Given the description of an element on the screen output the (x, y) to click on. 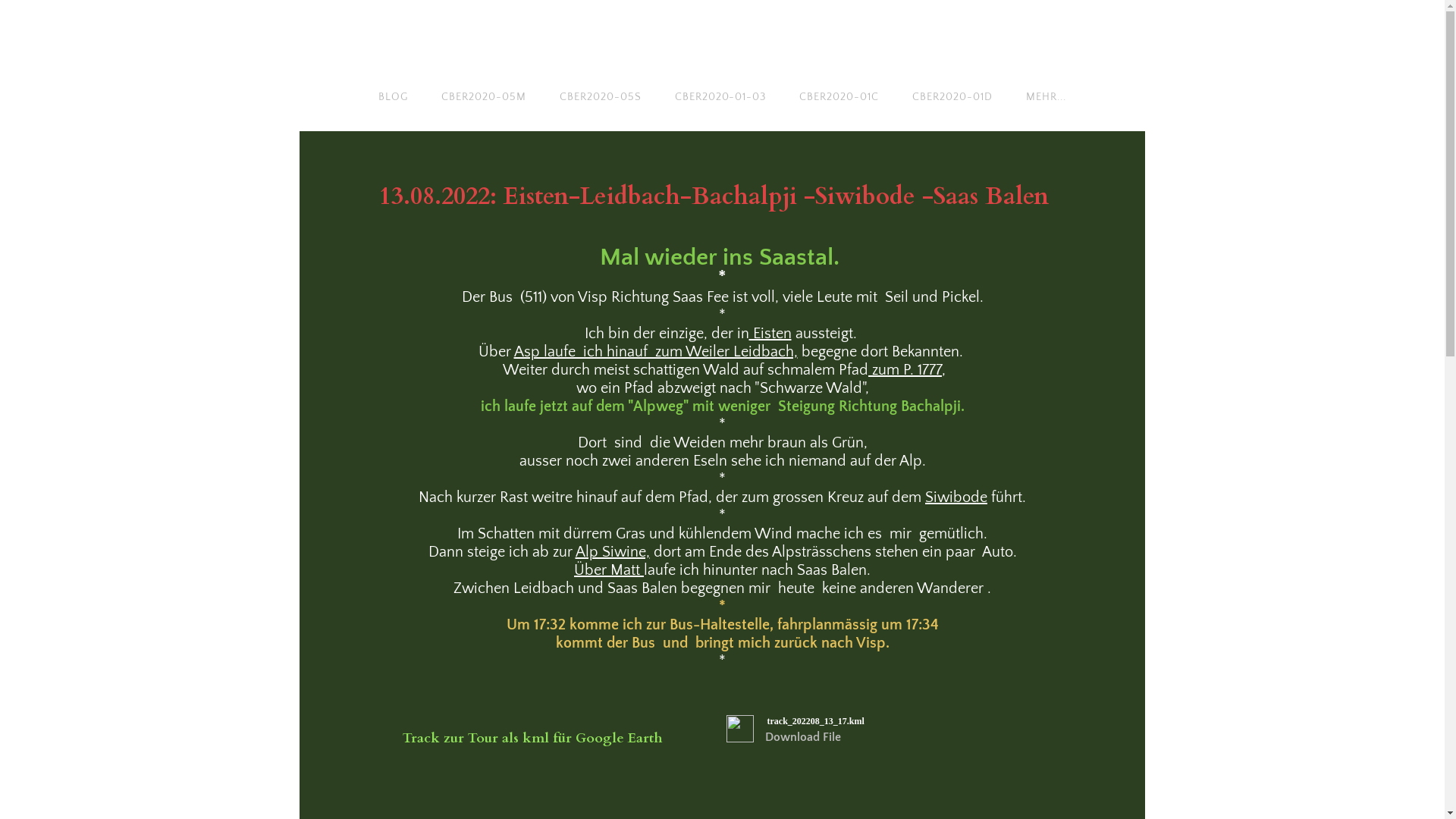
CBER2020-05S Element type: text (600, 97)
Download File Element type: text (802, 736)
BLOG Element type: text (393, 97)
CBER2020-01D Element type: text (952, 97)
MEHR... Element type: text (1045, 97)
CBER2020-01-03 Element type: text (720, 97)
CBER2020-05M Element type: text (483, 97)
CBER2020-01C Element type: text (838, 97)
